Given the description of an element on the screen output the (x, y) to click on. 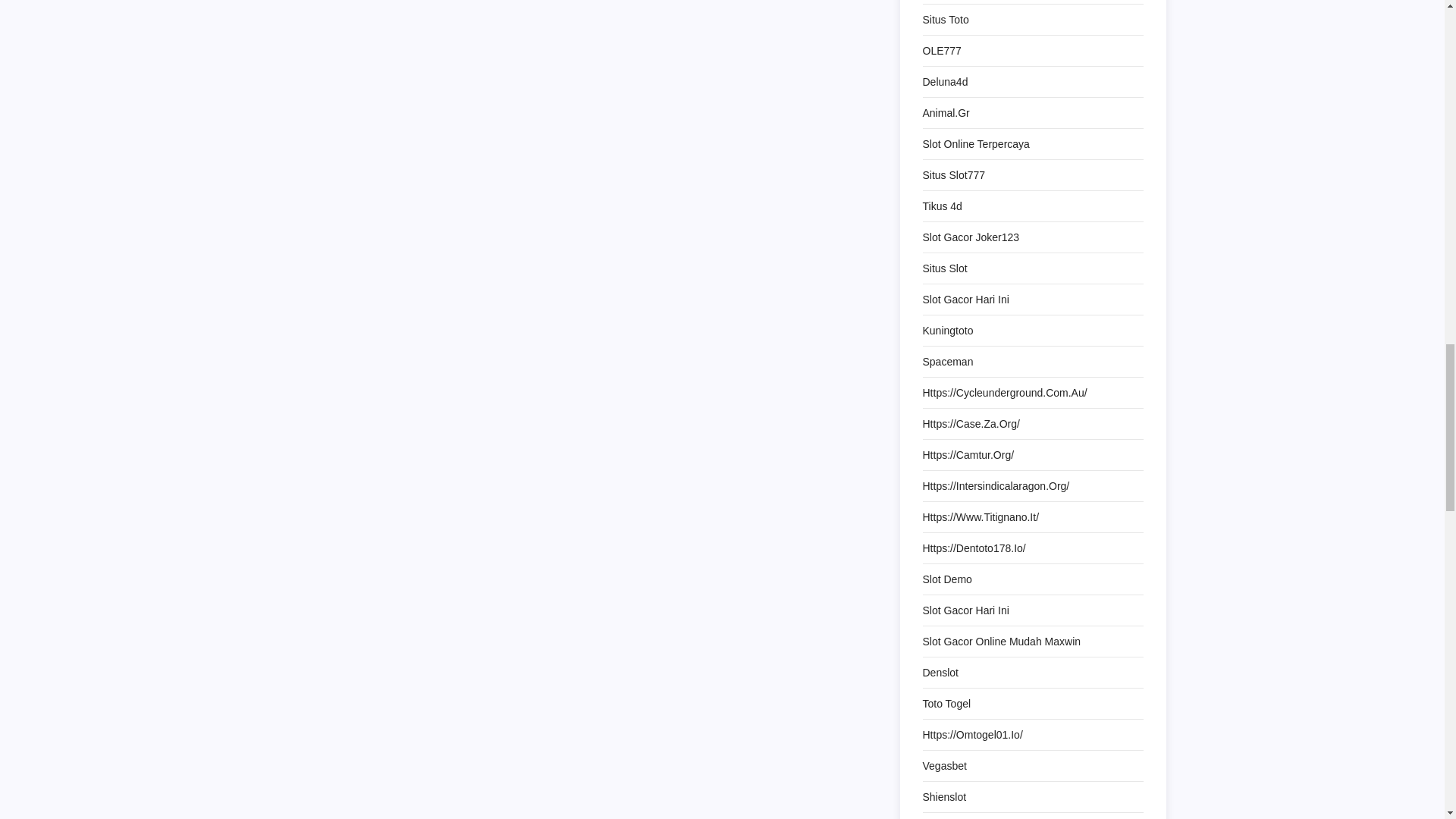
Slot Online Terpercaya (975, 143)
Deluna4d (944, 81)
Situs Slot777 (953, 175)
Situs Toto (944, 19)
Animal.Gr (945, 112)
OLE777 (940, 50)
